Given the description of an element on the screen output the (x, y) to click on. 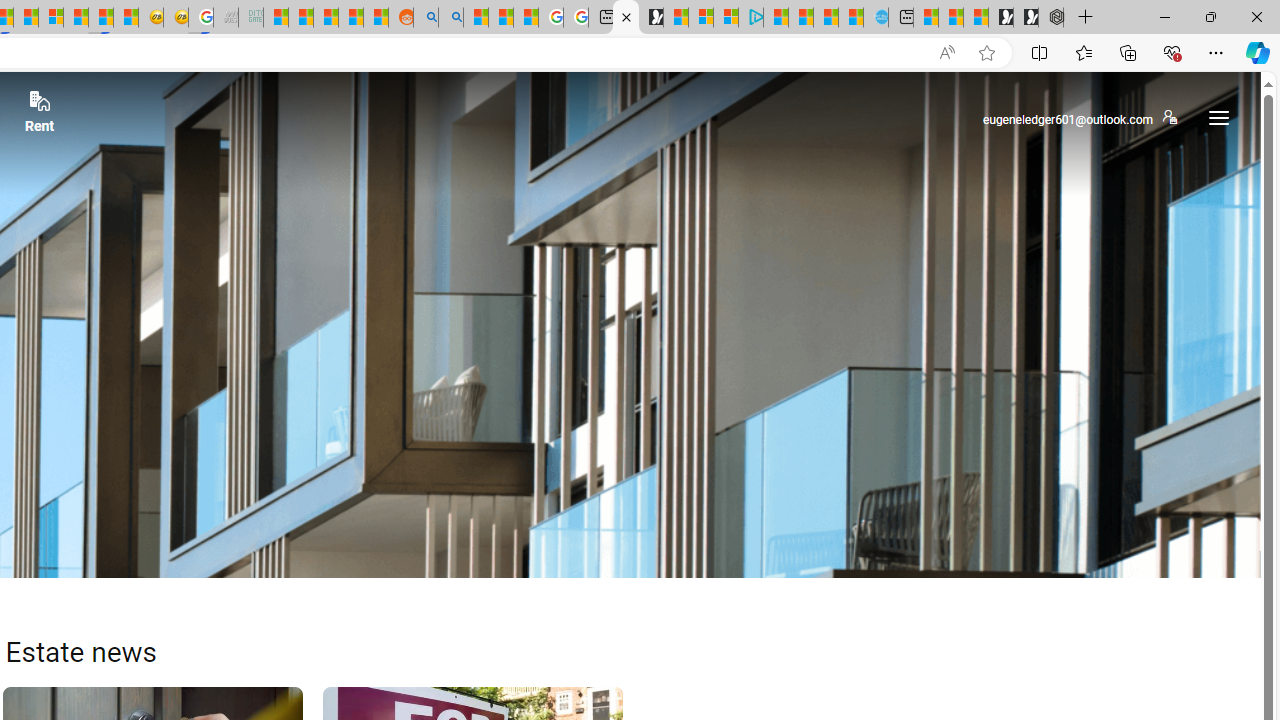
eugeneledger601@outlook.com (1079, 117)
Student Loan Update: Forgiveness Program Ends This Month (351, 17)
Utah sues federal government - Search (451, 17)
